Given the description of an element on the screen output the (x, y) to click on. 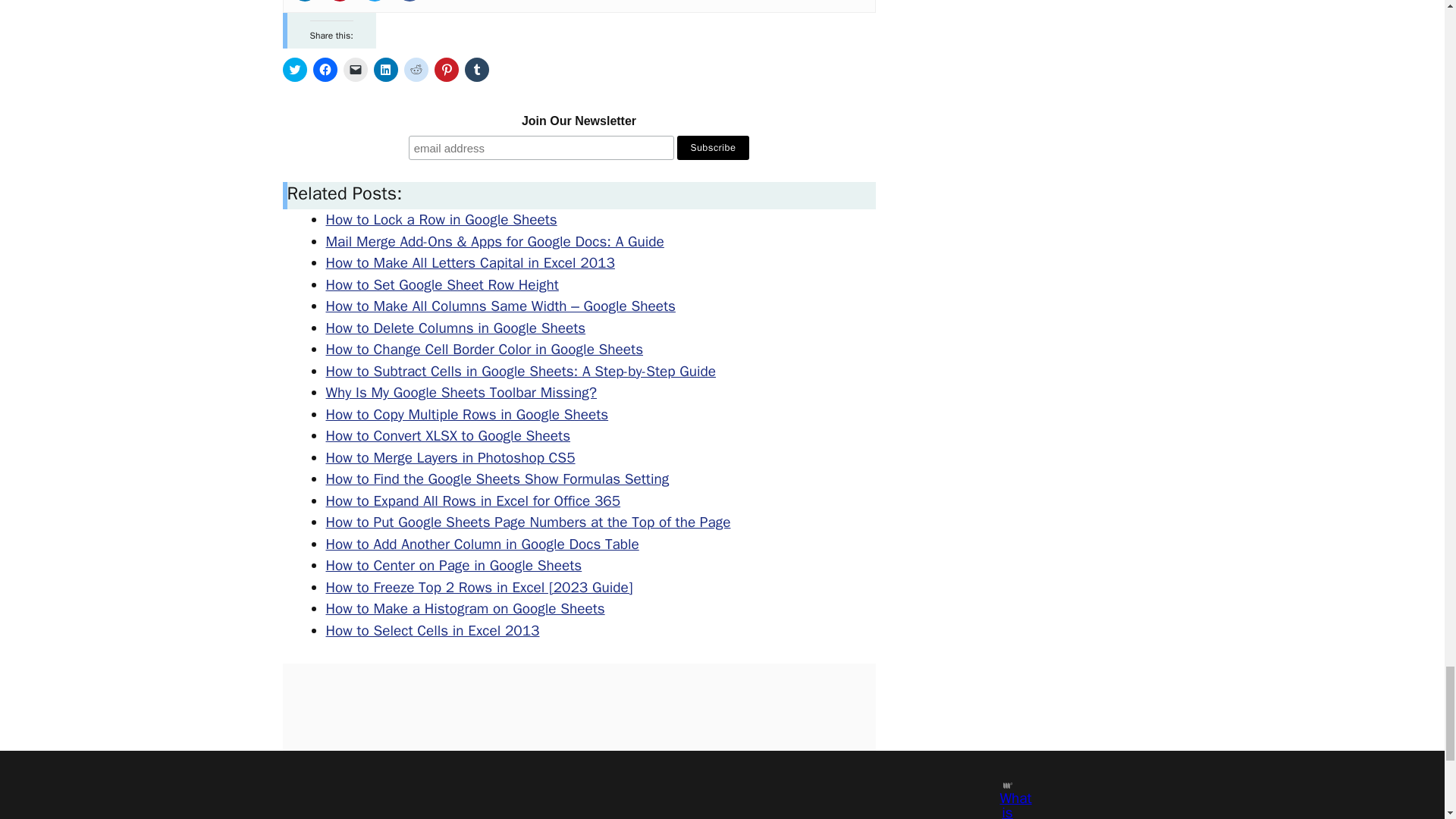
How to Change Cell Border Color in Google Sheets (484, 349)
How to Merge Layers in Photoshop CS5 (450, 457)
Subscribe (713, 147)
Subscribe (713, 147)
How to Center on Page in Google Sheets (454, 565)
How to Make All Letters Capital in Excel 2013 (470, 262)
How to Add Another Column in Google Docs Table (482, 544)
How to Lock a Row in Google Sheets (441, 219)
How to Delete Columns in Google Sheets (456, 328)
How to Set Google Sheet Row Height (442, 285)
How to Subtract Cells in Google Sheets: A Step-by-Step Guide (521, 371)
Why Is My Google Sheets Toolbar Missing? (461, 393)
How to Find the Google Sheets Show Formulas Setting (497, 479)
How to Convert XLSX to Google Sheets (448, 435)
How to Put Google Sheets Page Numbers at the Top of the Page (528, 522)
